Given the description of an element on the screen output the (x, y) to click on. 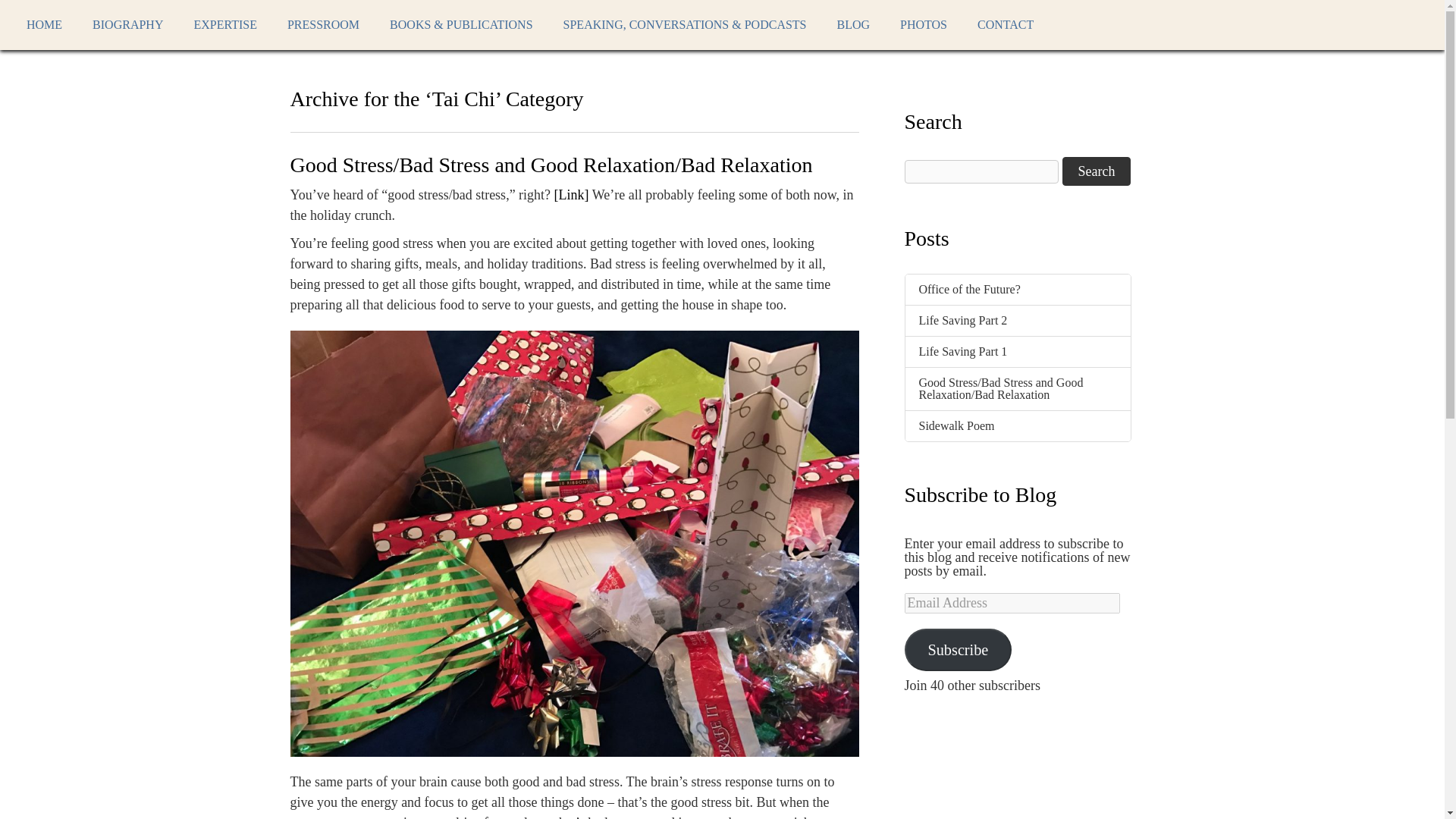
Home (44, 24)
Contact (1005, 24)
Blog (853, 24)
BLOG (853, 24)
BIOGRAPHY (127, 24)
Sidewalk Poem (956, 425)
Sidewalk Poem (956, 425)
Search (1096, 171)
Life Saving Part 2 (962, 319)
Photos (923, 24)
Life Saving Part 1 (962, 350)
Life Saving Part 1 (962, 350)
Expertise (223, 24)
Biography (127, 24)
PHOTOS (923, 24)
